Given the description of an element on the screen output the (x, y) to click on. 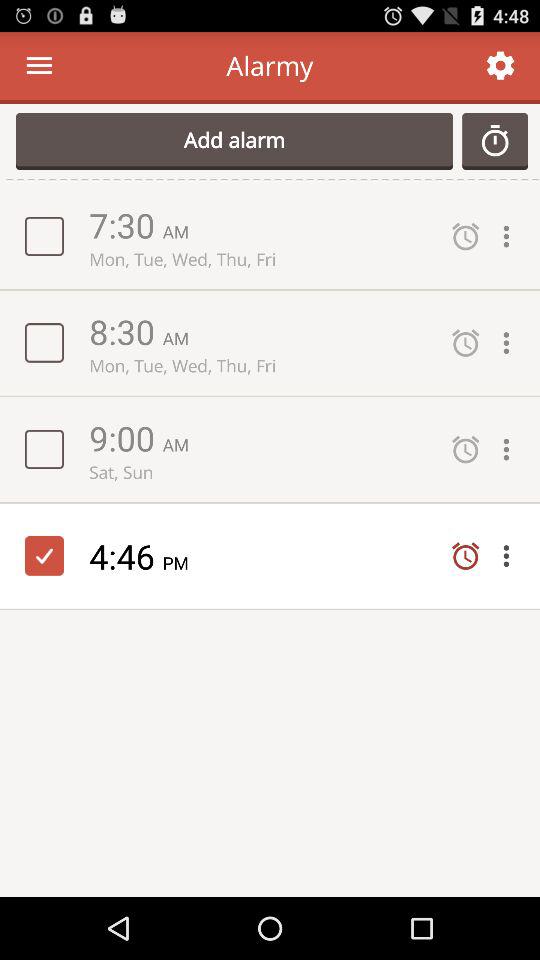
press the item to the right of the 4:46 (181, 562)
